Given the description of an element on the screen output the (x, y) to click on. 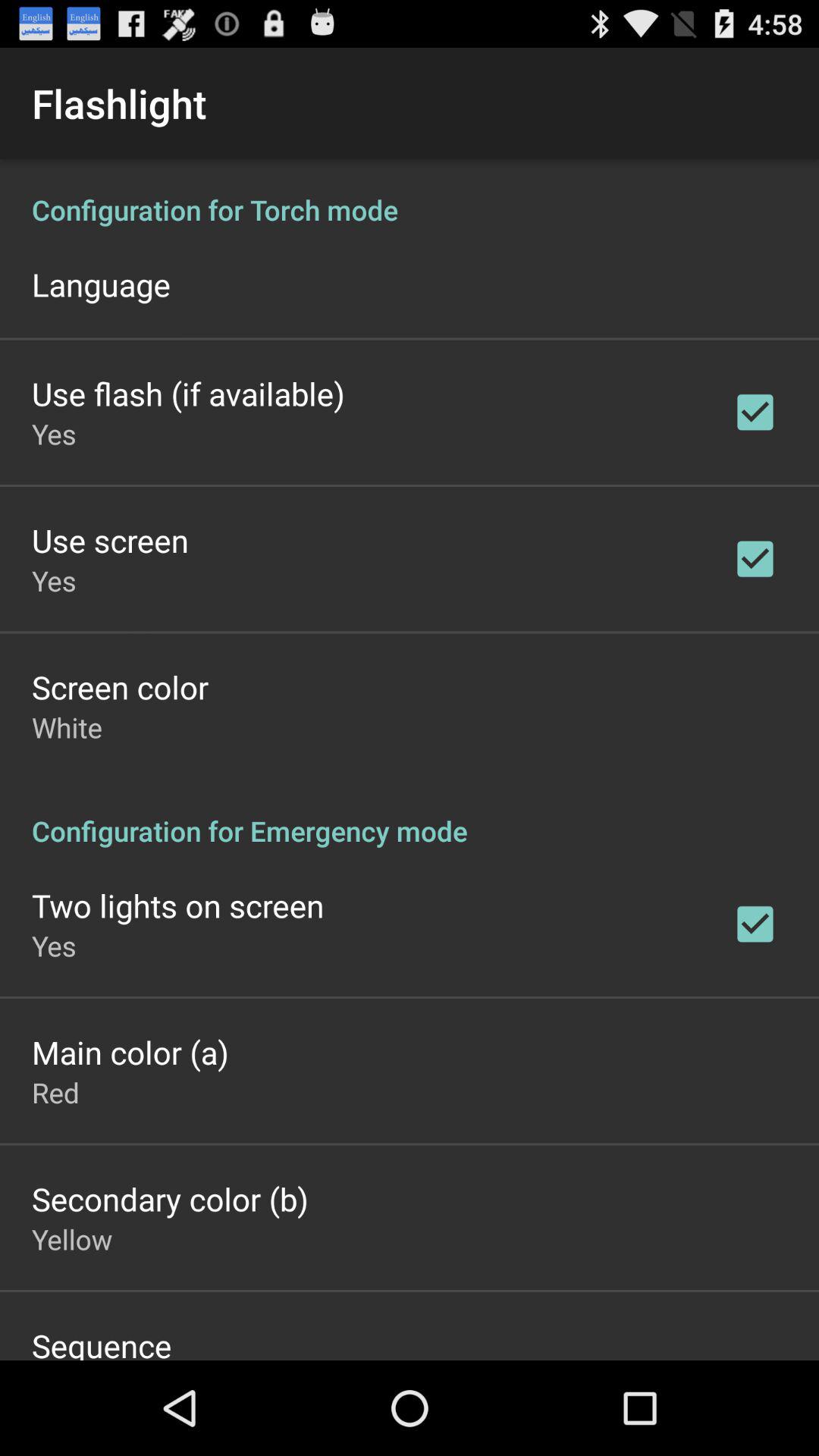
scroll until two lights on item (177, 905)
